Given the description of an element on the screen output the (x, y) to click on. 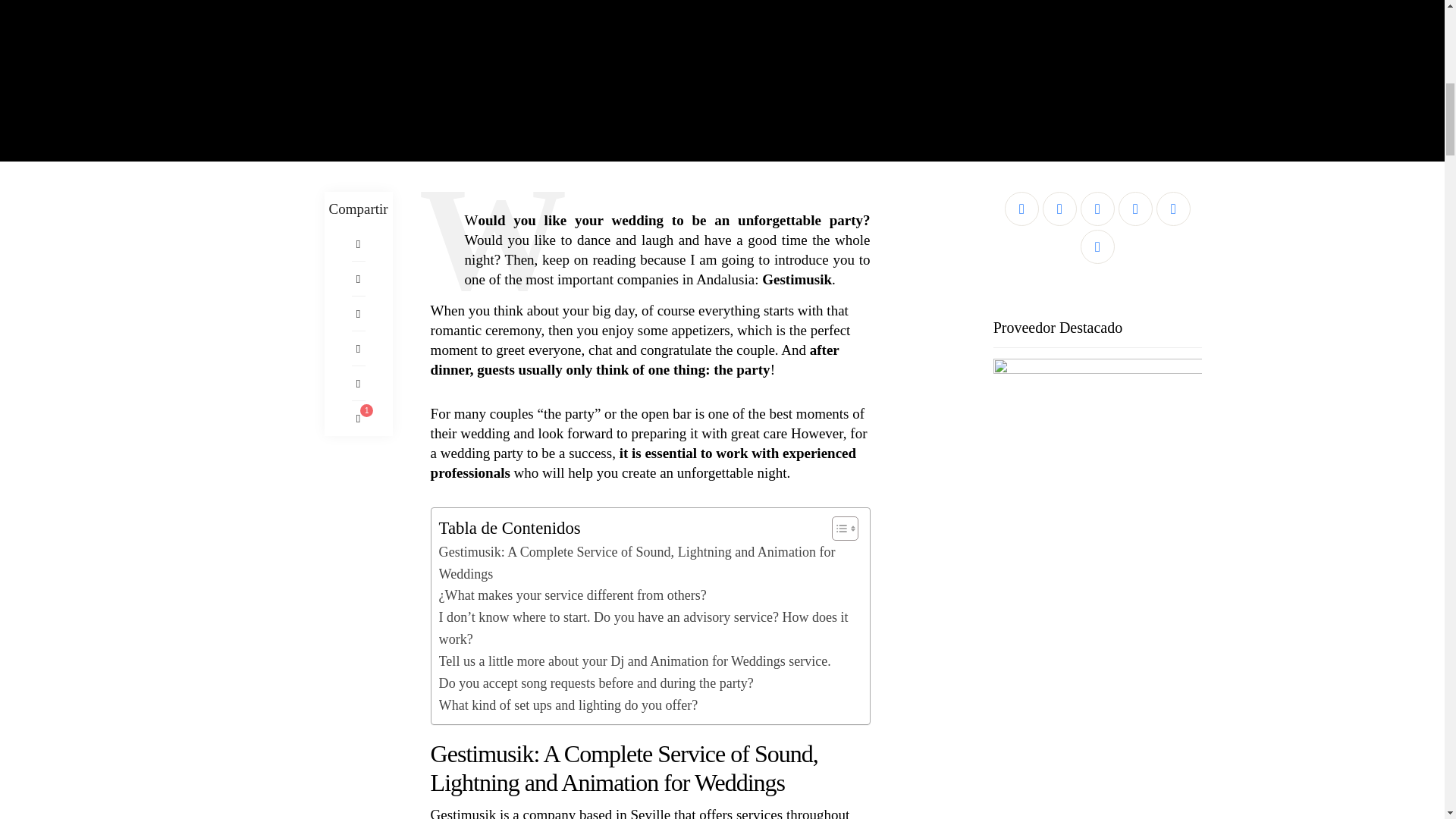
Do you accept song requests before and during the party? (596, 683)
What kind of set ups and lighting do you offer? (568, 705)
